Given the description of an element on the screen output the (x, y) to click on. 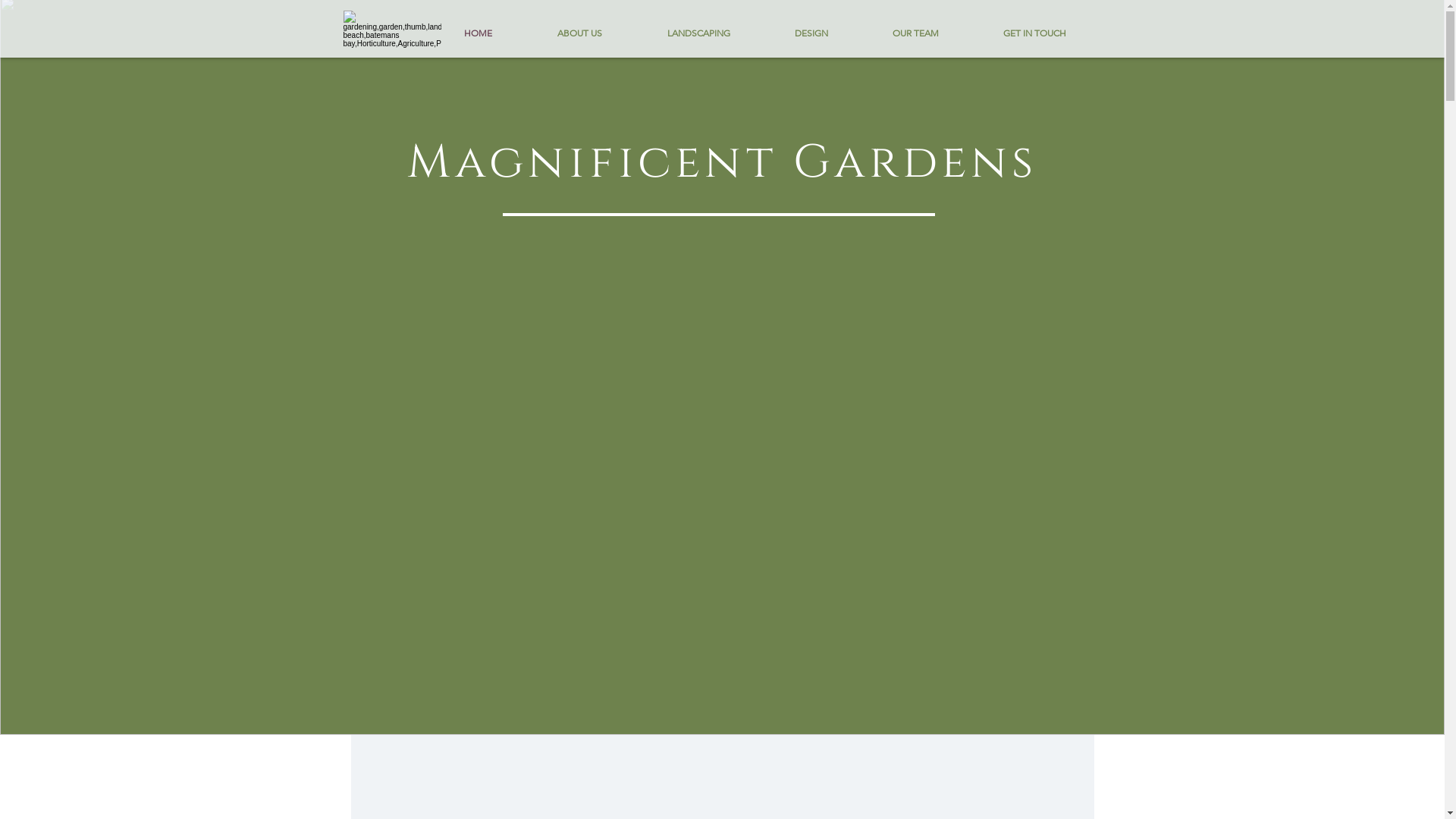
DESIGN Element type: text (811, 33)
OUR TEAM Element type: text (914, 33)
HOME Element type: text (477, 33)
GET IN TOUCH Element type: text (1034, 33)
ABOUT US Element type: text (579, 33)
LANDSCAPING Element type: text (697, 33)
